Given the description of an element on the screen output the (x, y) to click on. 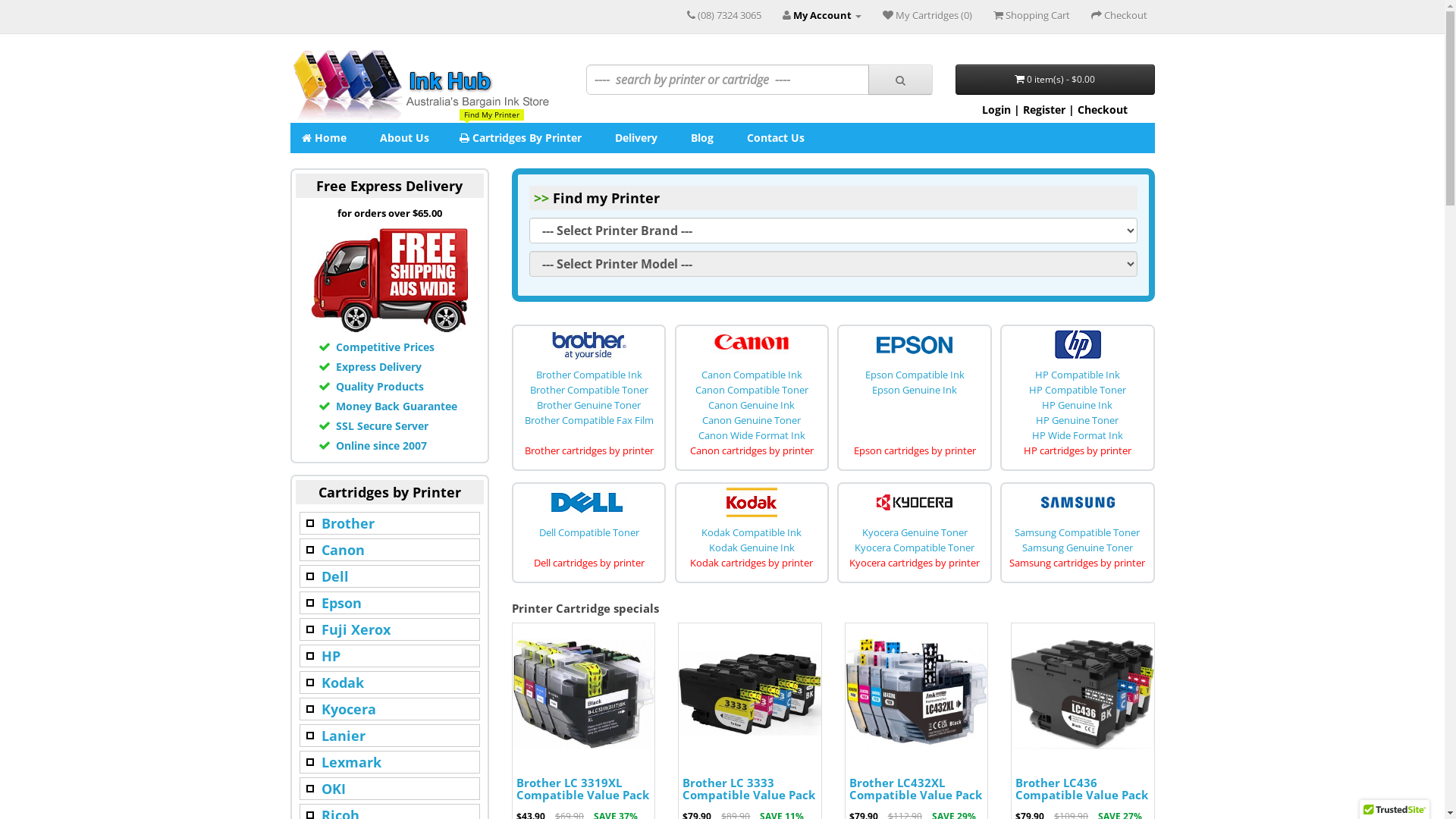
Brother LC 3319XL Compatible Value Pack Element type: hover (583, 694)
Checkout Element type: text (1118, 14)
Kodak Element type: text (342, 682)
HP Wide Format Ink Element type: text (1077, 435)
Canon Element type: text (342, 549)
Kyocera cartridges by printer Element type: text (914, 562)
Brother Compatible Ink Element type: text (589, 374)
Brother Compatible Toner Element type: text (589, 389)
Login Element type: text (996, 109)
Brother LC436 Compatible Value Pack Element type: hover (1082, 694)
Dell Element type: text (334, 576)
Kodak Genuine Ink Element type: text (751, 547)
HP Compatible Toner Element type: text (1077, 389)
Kodak Compatible Ink Element type: text (751, 532)
Brother Compatible Fax Film Element type: text (588, 419)
Brother LC 3333 Compatible Value Pack Element type: text (748, 789)
Lanier Element type: text (343, 735)
Contact Us Element type: text (774, 137)
Brother cartridges by printer Element type: text (588, 450)
Brother LC 3319XL Compatible Value Pack Element type: text (582, 789)
Kyocera Compatible Toner Element type: text (914, 547)
Brother LC432XL Compatible Value Pack Element type: hover (916, 694)
Register Element type: text (1043, 109)
Epson Element type: text (341, 602)
Samsung cartridges by printer Element type: text (1077, 562)
Lexmark Element type: text (351, 762)
Epson Genuine Ink Element type: text (914, 389)
Fuji Xerox Element type: text (355, 629)
HP Genuine Toner Element type: text (1076, 419)
Delivery Element type: text (634, 137)
Brother LC 3333 Compatible Value Pack Element type: hover (749, 694)
Brother Element type: text (347, 523)
Kodak cartridges by printer Element type: text (751, 562)
OKI Element type: text (333, 788)
My Cartridges (0) Element type: text (927, 14)
HP cartridges by printer Element type: text (1077, 450)
Canon Genuine Ink Element type: text (751, 404)
HP Genuine Ink Element type: text (1076, 404)
Blog Element type: text (700, 137)
Brother LC432XL Compatible Value Pack Element type: text (915, 789)
HP Element type: text (330, 655)
Ink Hub Element type: hover (419, 85)
Shopping Cart Element type: text (1031, 14)
Samsung Compatible Toner Element type: text (1076, 532)
0 item(s) - $0.00 Element type: text (1054, 79)
Kyocera Element type: text (348, 708)
Samsung Genuine Toner Element type: text (1077, 547)
Brother LC436 Compatible Value Pack Element type: text (1081, 789)
Canon Compatible Toner Element type: text (751, 389)
Canon Compatible Ink Element type: text (751, 374)
HP Compatible Ink Element type: text (1077, 374)
Canon cartridges by printer Element type: text (751, 450)
Checkout Element type: text (1102, 109)
My Account Element type: text (821, 14)
Canon Wide Format Ink Element type: text (751, 435)
Kyocera Genuine Toner Element type: text (914, 532)
Home Element type: text (323, 137)
Canon Genuine Toner Element type: text (751, 419)
About Us Element type: text (403, 137)
Brother Genuine Toner Element type: text (588, 404)
Epson Compatible Ink Element type: text (914, 374)
Dell Compatible Toner Element type: text (589, 532)
Dell cartridges by printer Element type: text (588, 562)
Find My Printer
Cartridges By Printer Element type: text (519, 137)
Epson cartridges by printer Element type: text (914, 450)
